Given the description of an element on the screen output the (x, y) to click on. 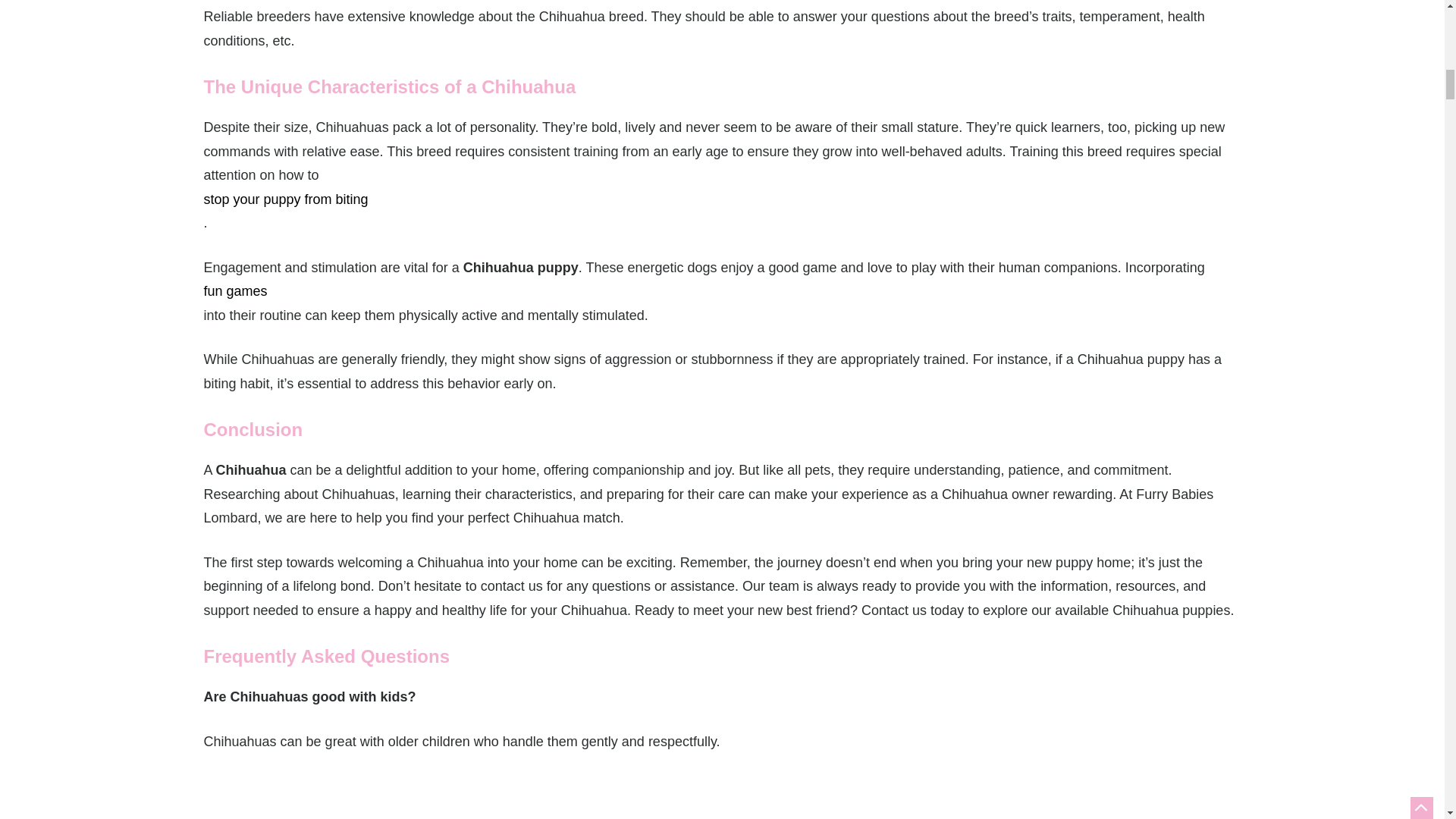
fun games (721, 291)
stop your puppy from biting (721, 200)
